Given the description of an element on the screen output the (x, y) to click on. 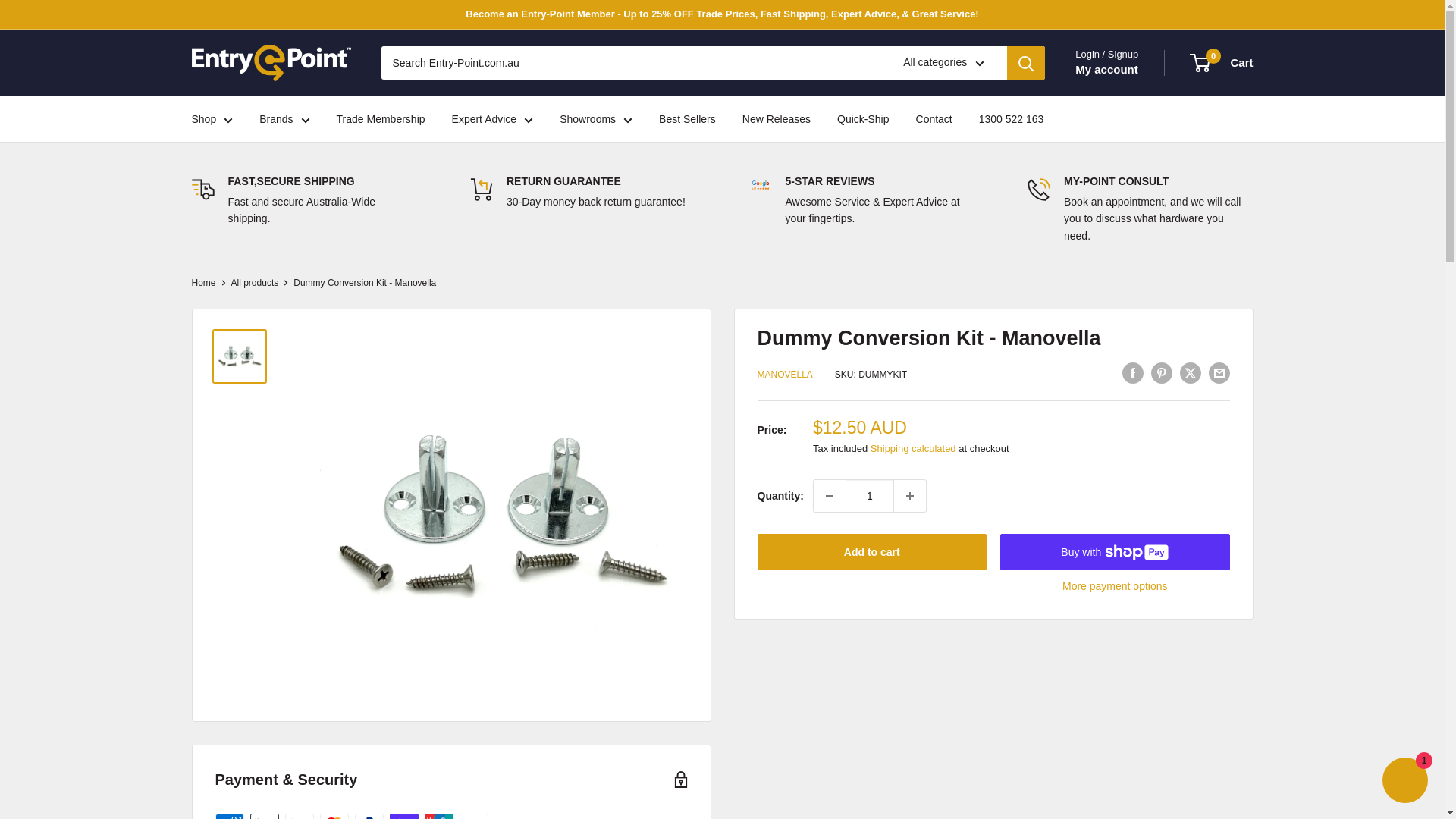
Increase quantity by 1 (909, 495)
Decrease quantity by 1 (829, 495)
Shopify online store chat (1404, 781)
1 (869, 495)
